Given the description of an element on the screen output the (x, y) to click on. 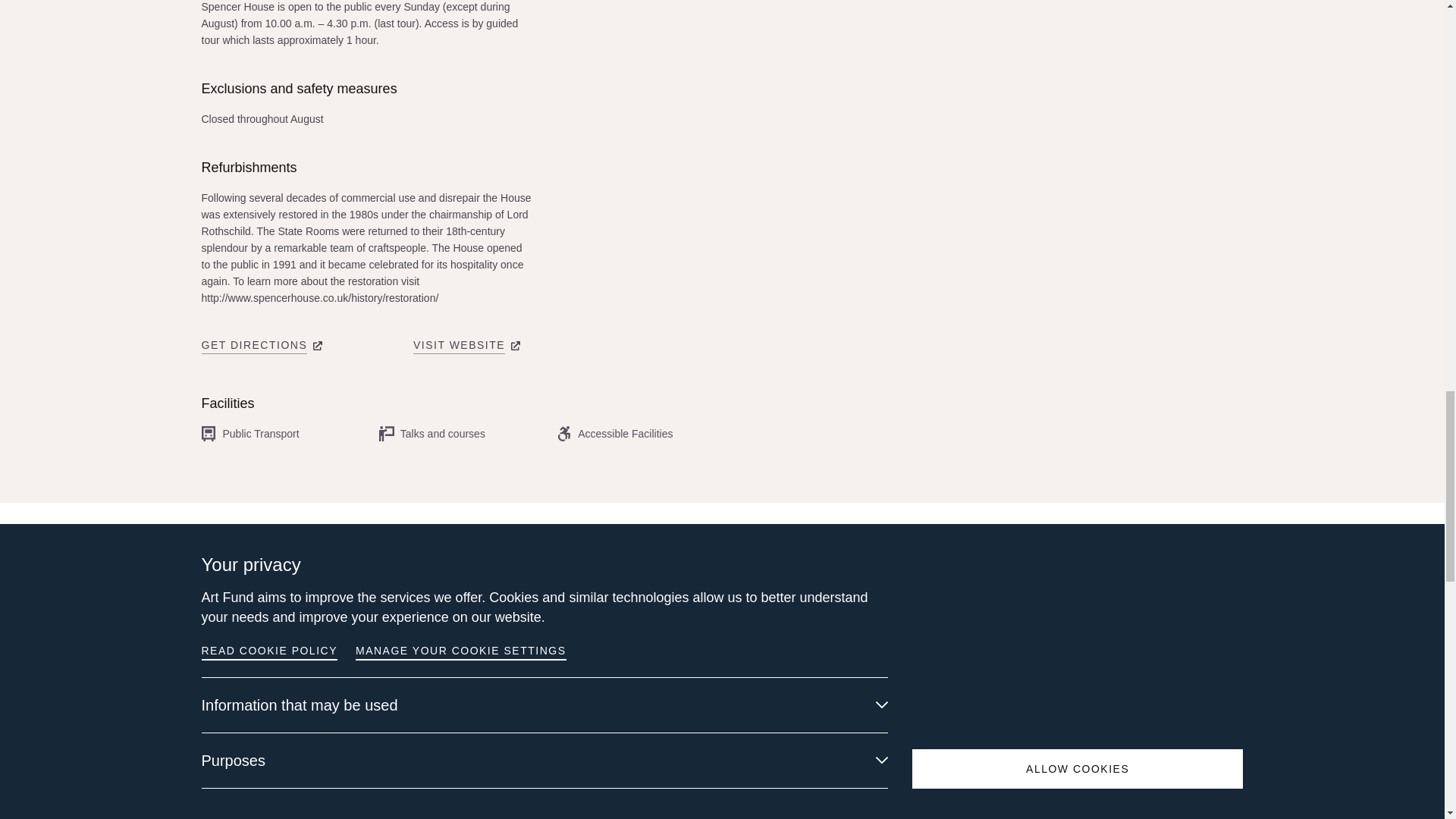
VISIT WEBSITE (459, 344)
GET DIRECTIONS (254, 344)
